Given the description of an element on the screen output the (x, y) to click on. 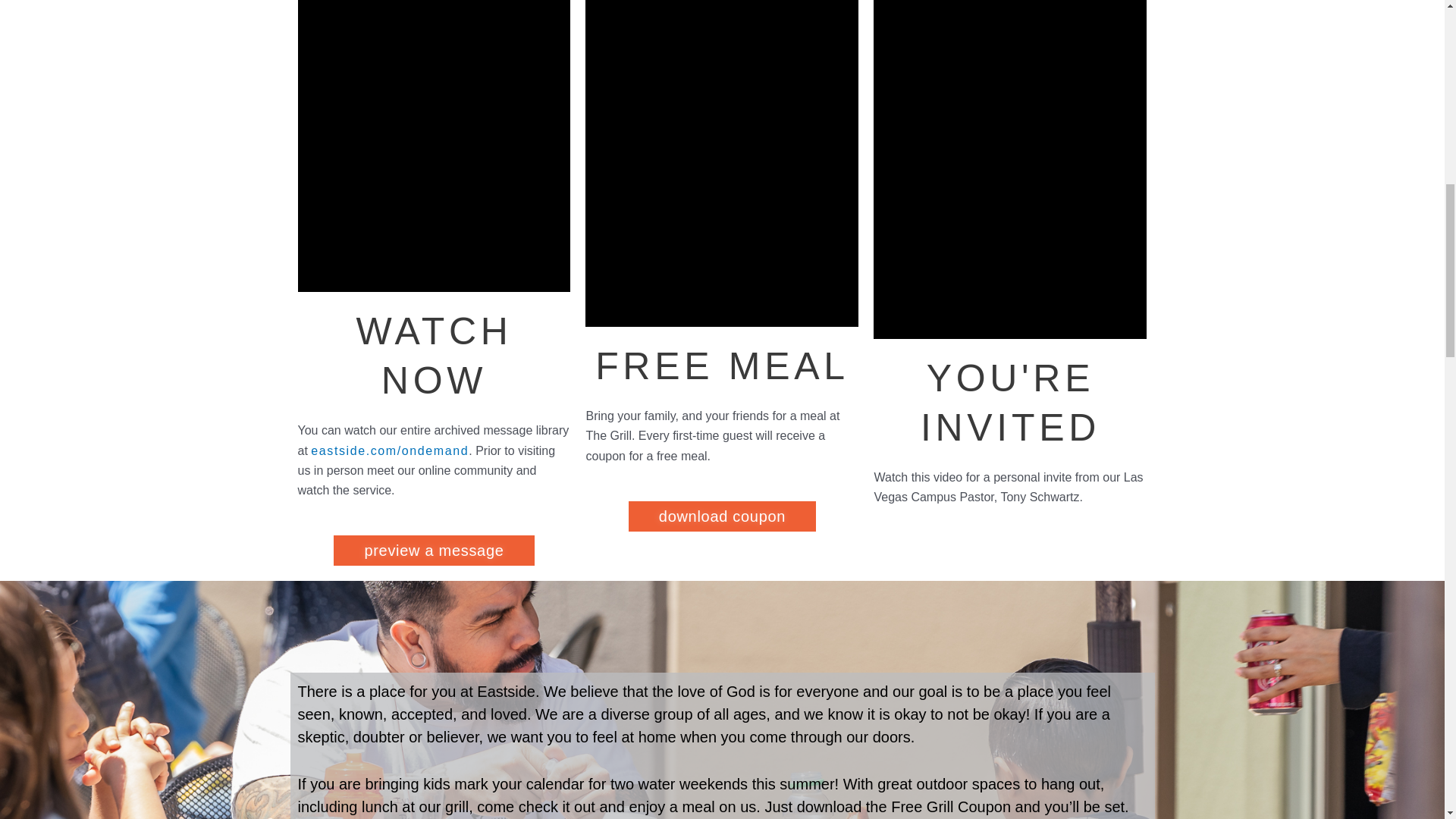
vimeo Video Player (433, 145)
